Given the description of an element on the screen output the (x, y) to click on. 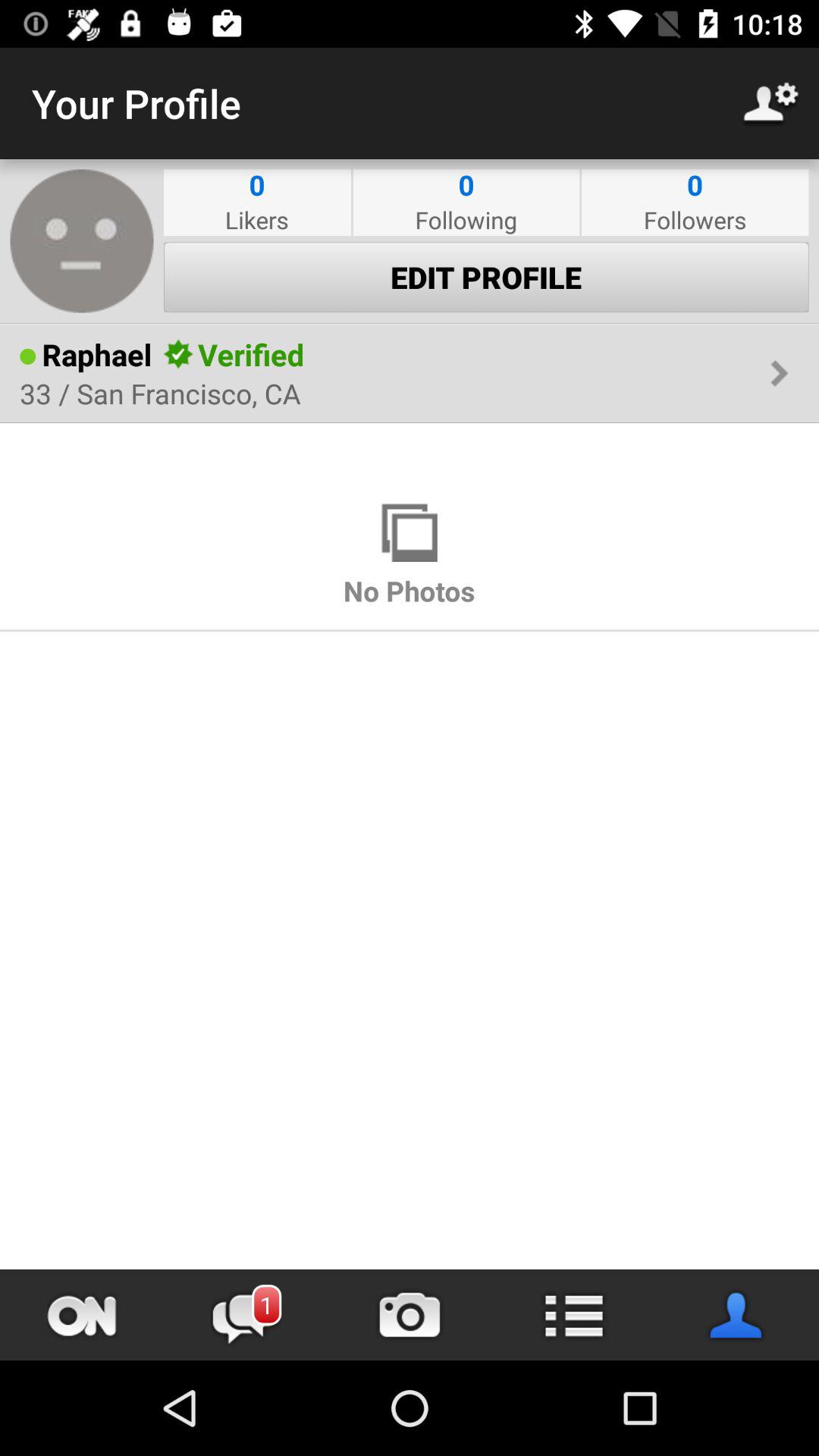
profile avatar (81, 240)
